Given the description of an element on the screen output the (x, y) to click on. 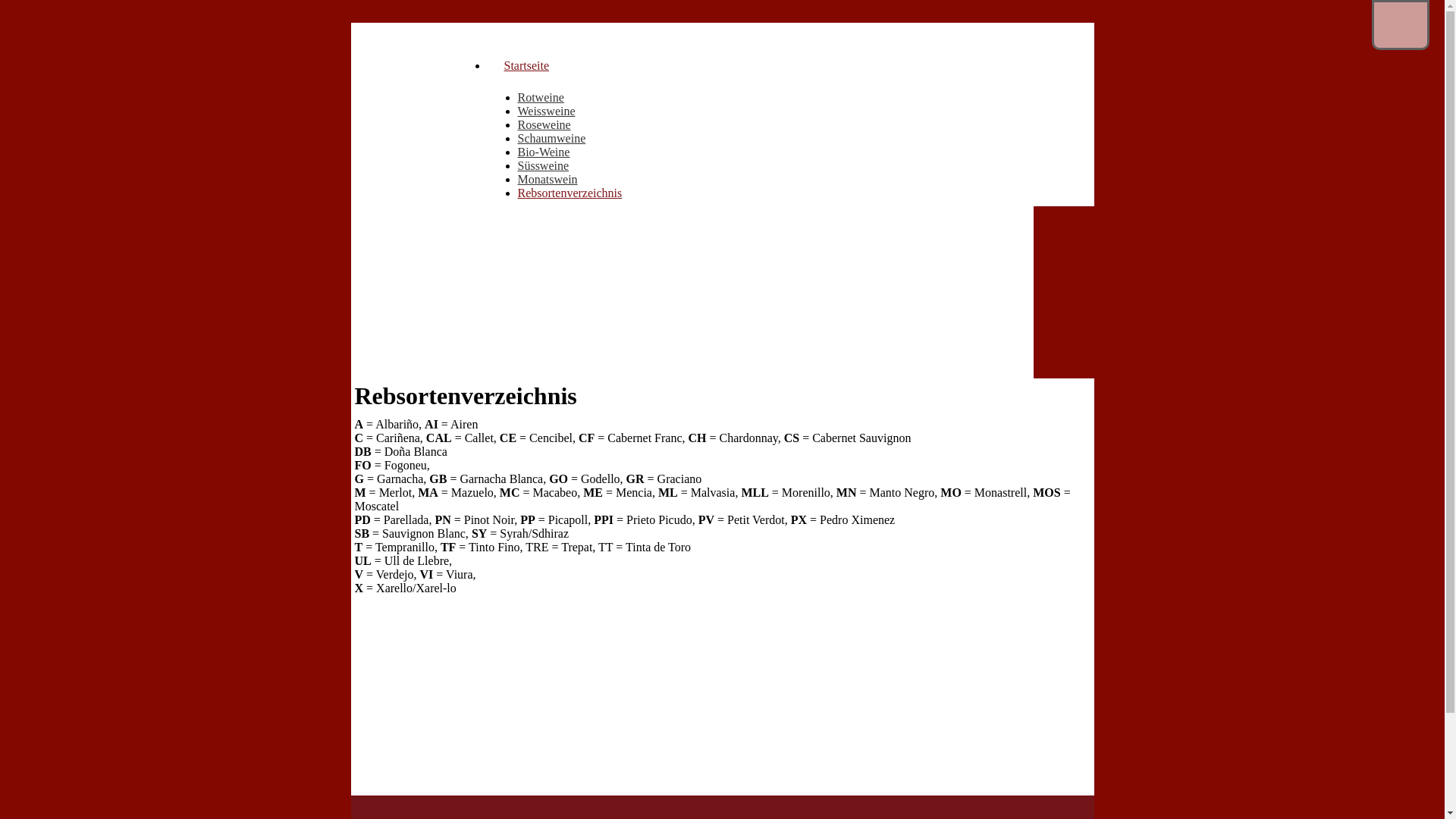
Startseite Element type: text (526, 57)
Rotweine Element type: text (540, 97)
Schaumweine Element type: text (551, 137)
Monatswein Element type: text (547, 178)
Weissweine Element type: text (545, 110)
Rebsortenverzeichnis Element type: text (569, 192)
Roseweine Element type: text (543, 124)
Bio-Weine Element type: text (543, 151)
